Given the description of an element on the screen output the (x, y) to click on. 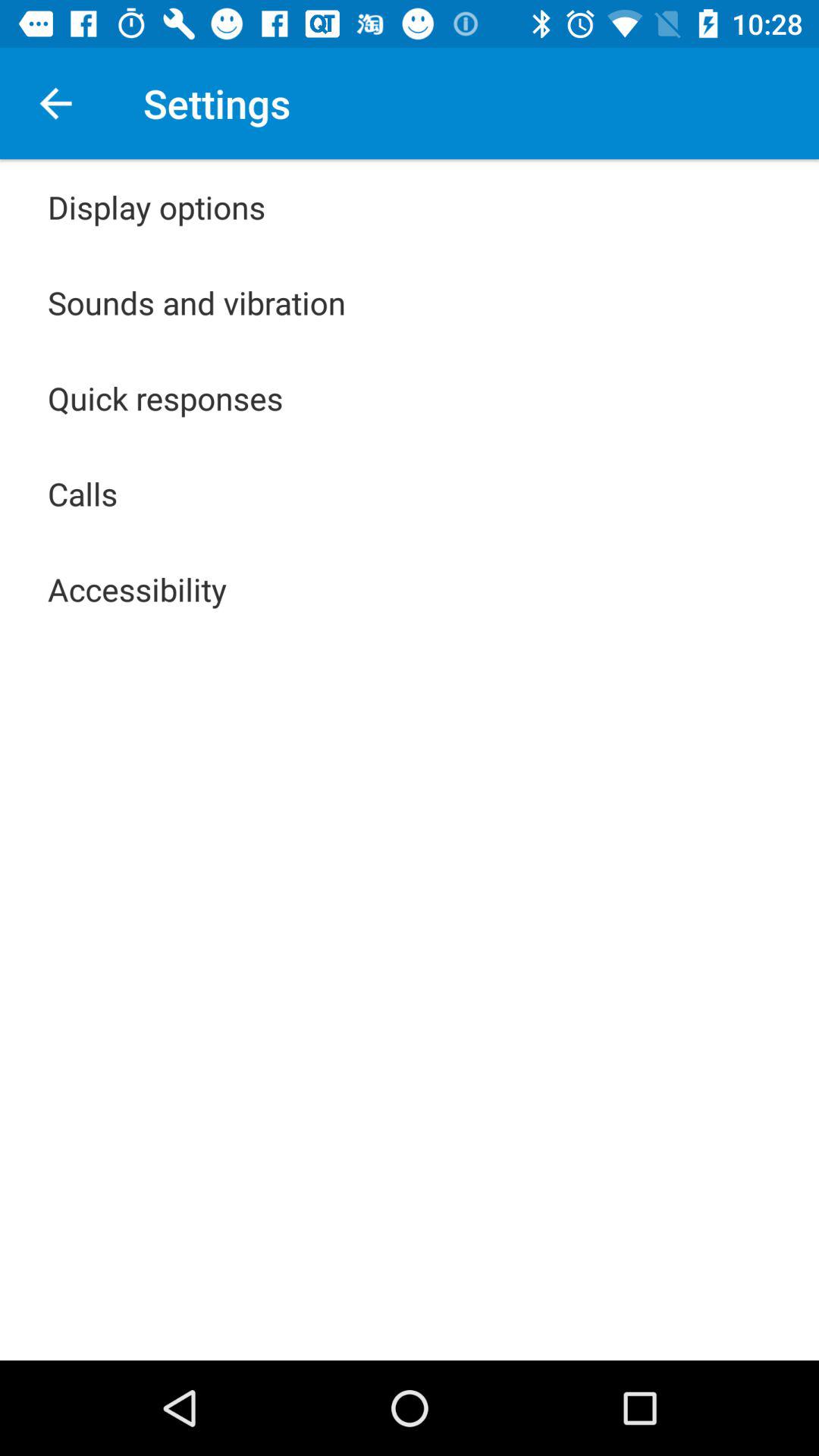
jump to display options (156, 206)
